Given the description of an element on the screen output the (x, y) to click on. 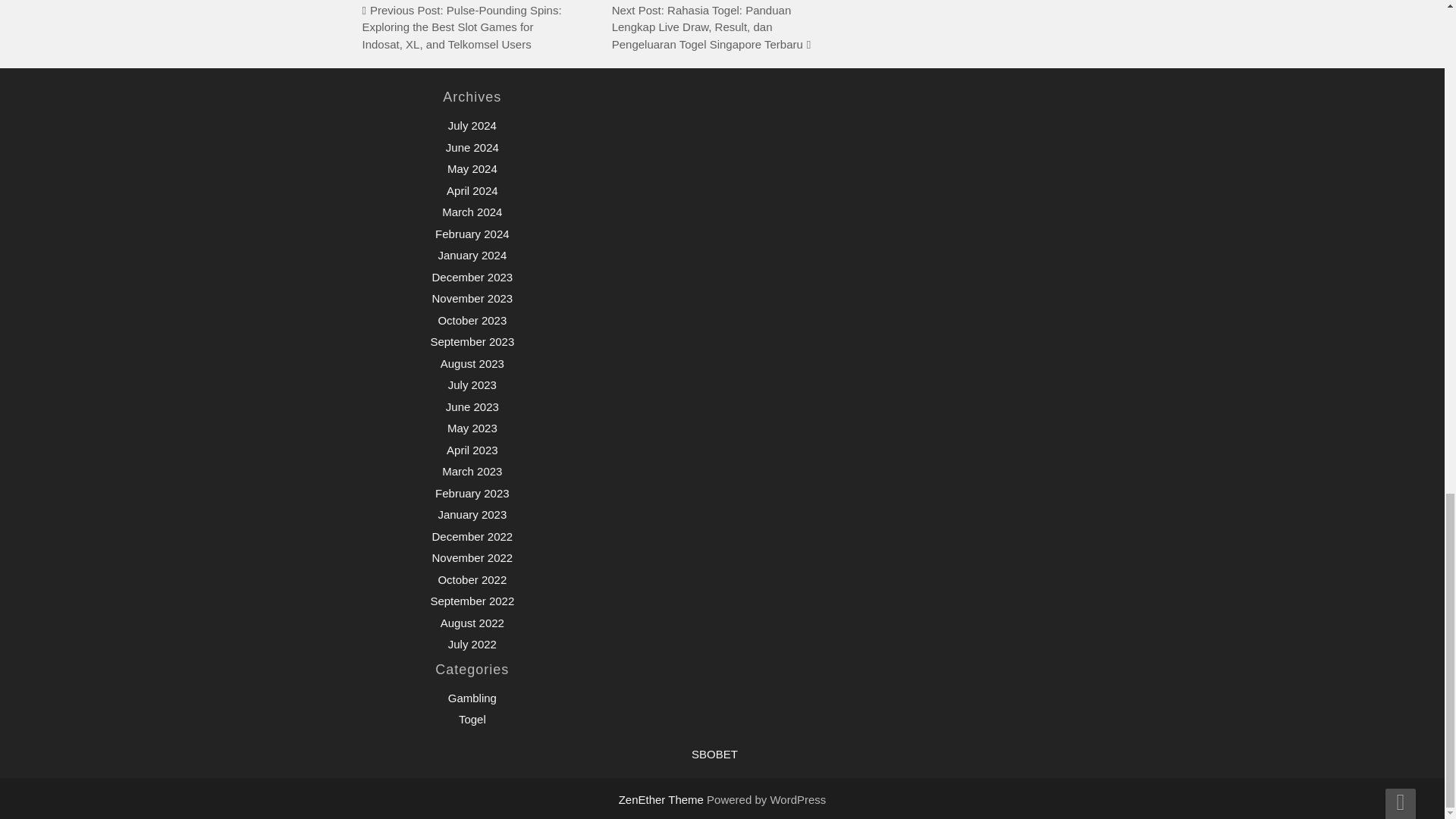
October 2023 (472, 319)
July 2024 (472, 124)
November 2023 (471, 297)
ZenEther Theme (662, 799)
April 2023 (471, 449)
February 2023 (472, 492)
October 2022 (472, 579)
May 2024 (471, 168)
February 2024 (472, 233)
December 2023 (471, 277)
November 2022 (471, 557)
June 2023 (472, 406)
March 2024 (472, 211)
